Given the description of an element on the screen output the (x, y) to click on. 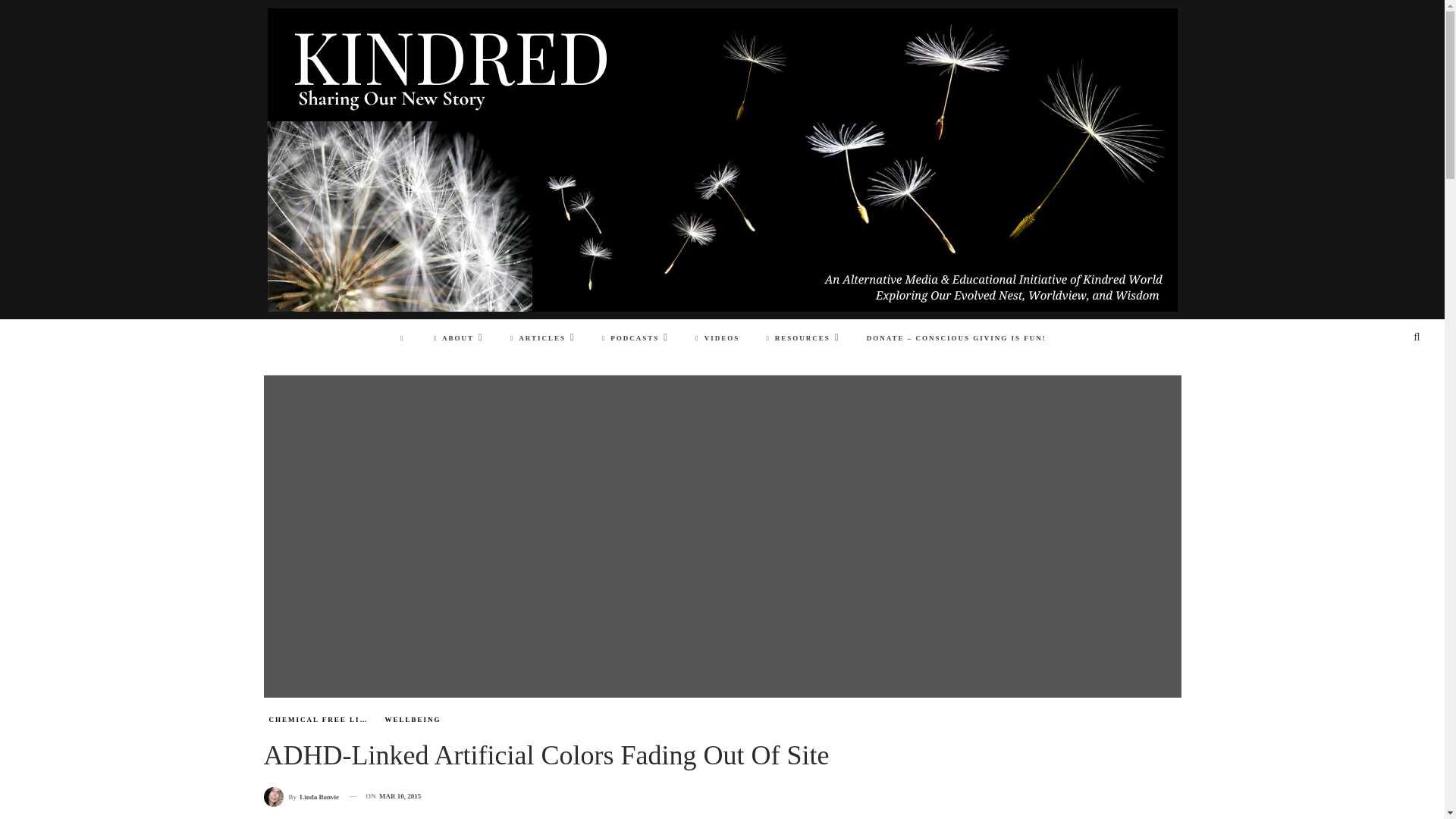
ARTICLES (542, 338)
Browse Author Articles (301, 796)
ABOUT (459, 338)
